Given the description of an element on the screen output the (x, y) to click on. 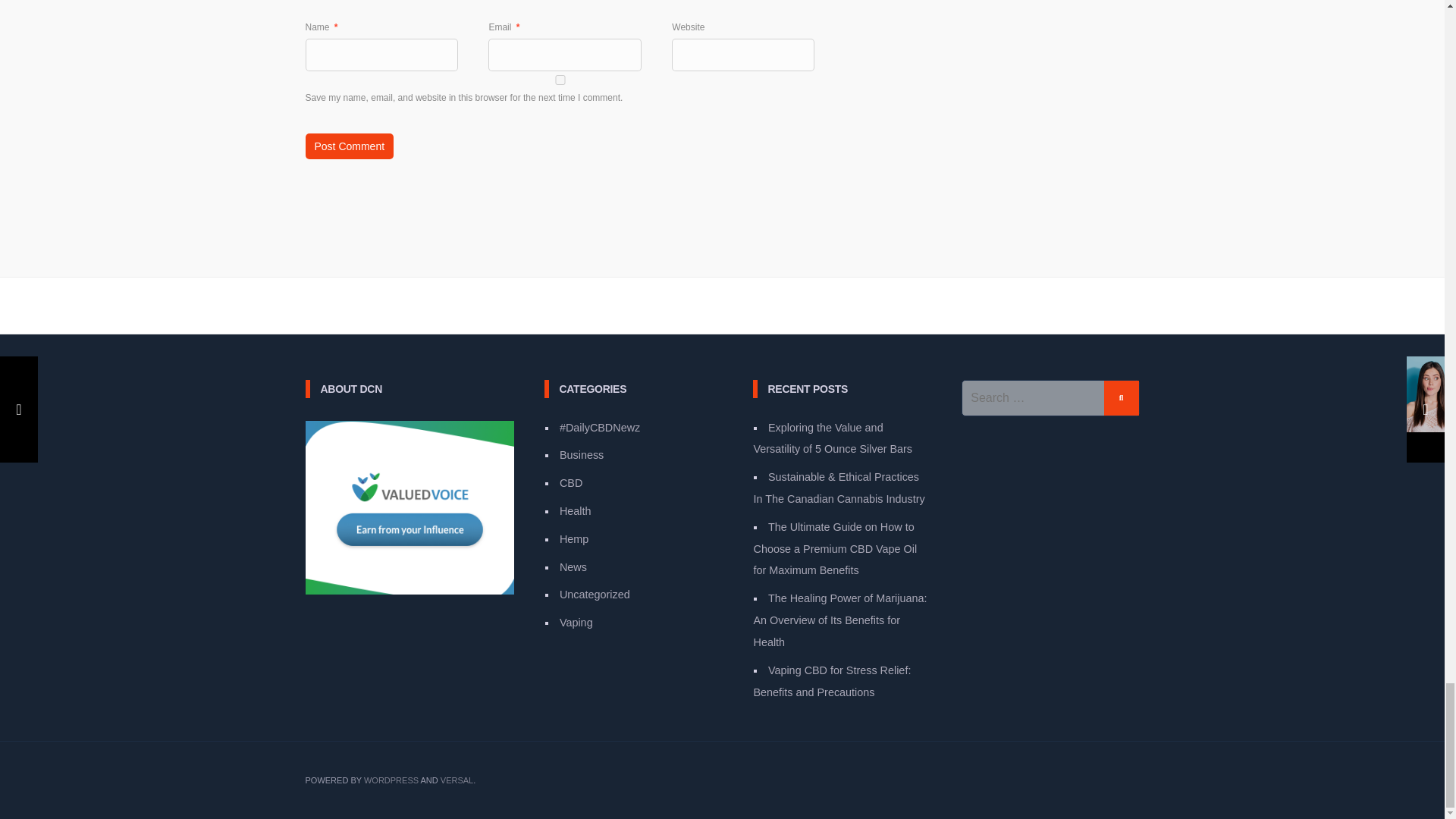
yes (558, 80)
Post Comment (348, 145)
Post Comment (348, 145)
WordPress (391, 779)
Versal Magazine Theme (457, 779)
